Given the description of an element on the screen output the (x, y) to click on. 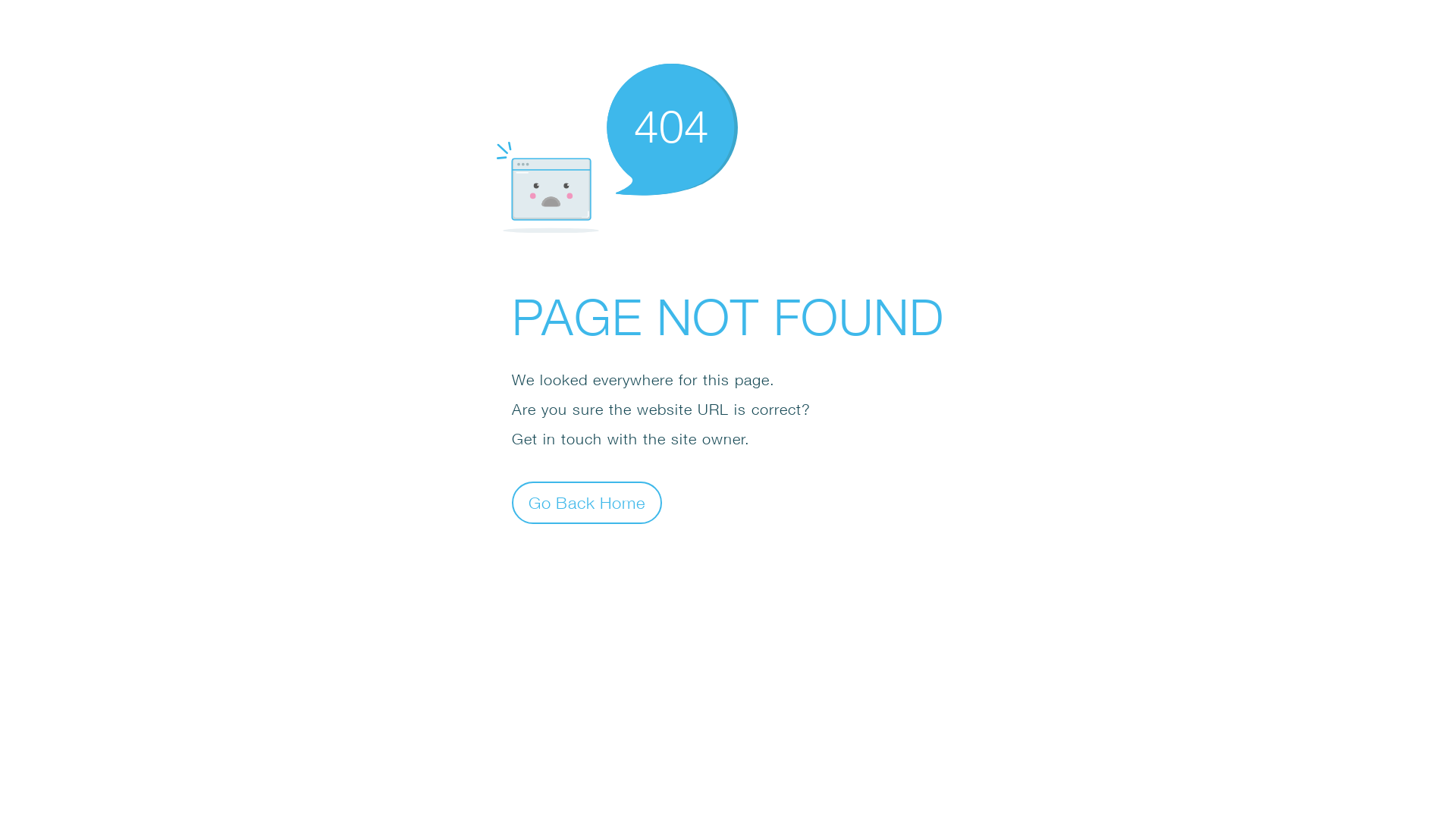
Go Back Home Element type: text (586, 502)
